Given the description of an element on the screen output the (x, y) to click on. 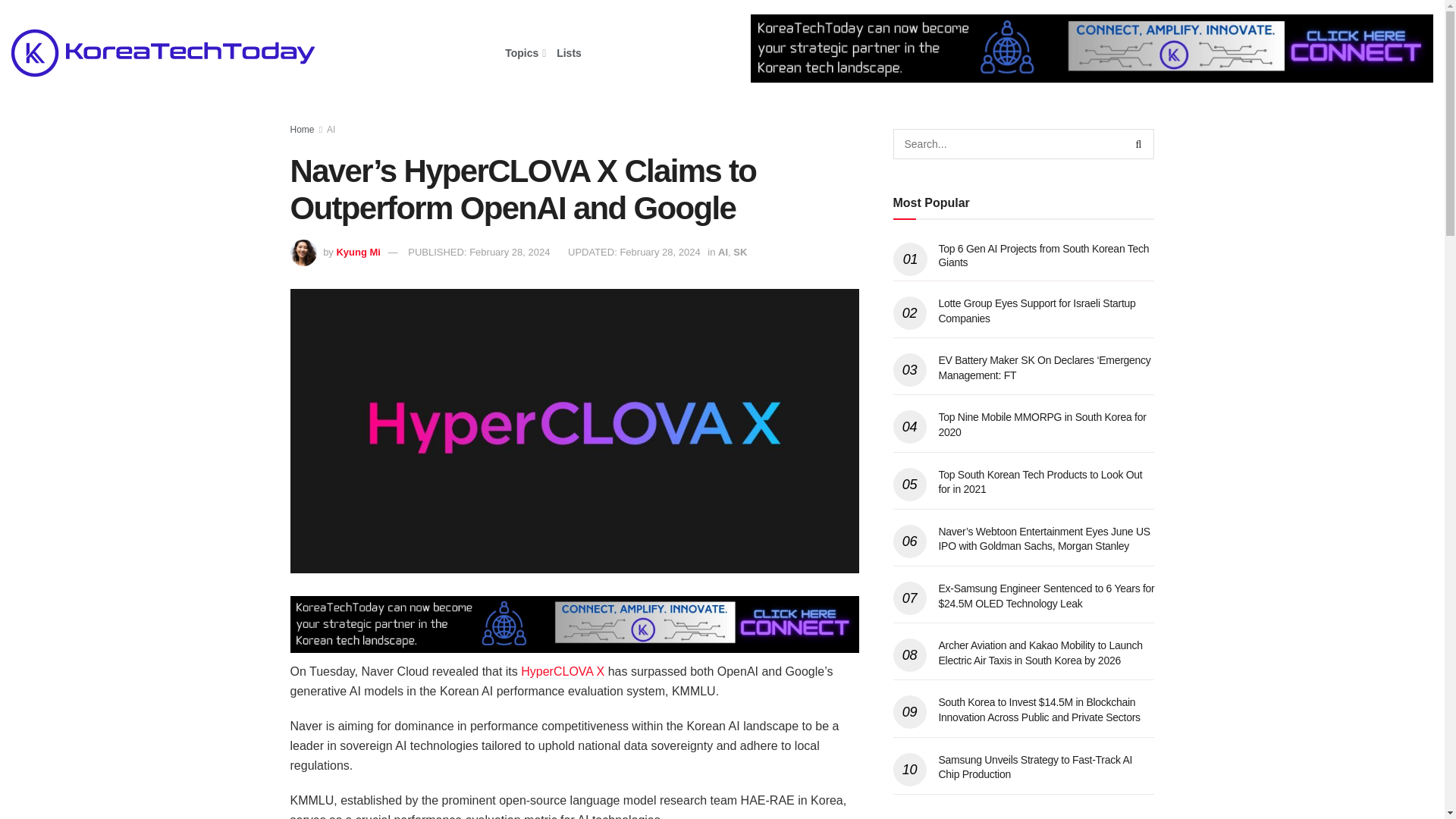
Topics (524, 53)
